Given the description of an element on the screen output the (x, y) to click on. 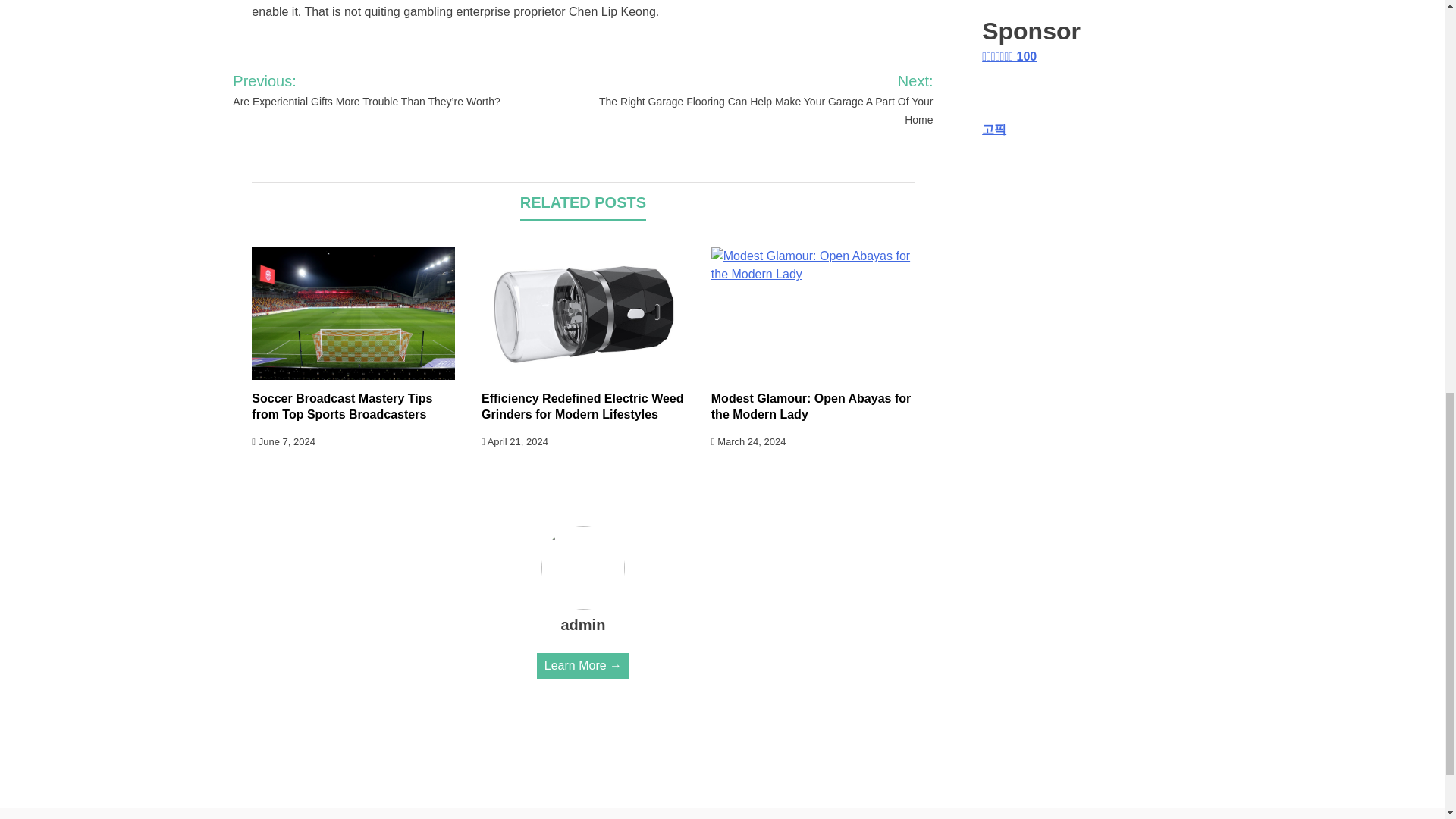
June 7, 2024 (283, 441)
Modest Glamour: Open Abayas for the Modern Lady (811, 406)
April 21, 2024 (514, 441)
Soccer Broadcast Mastery Tips from Top Sports Broadcasters (341, 406)
March 24, 2024 (748, 441)
